Given the description of an element on the screen output the (x, y) to click on. 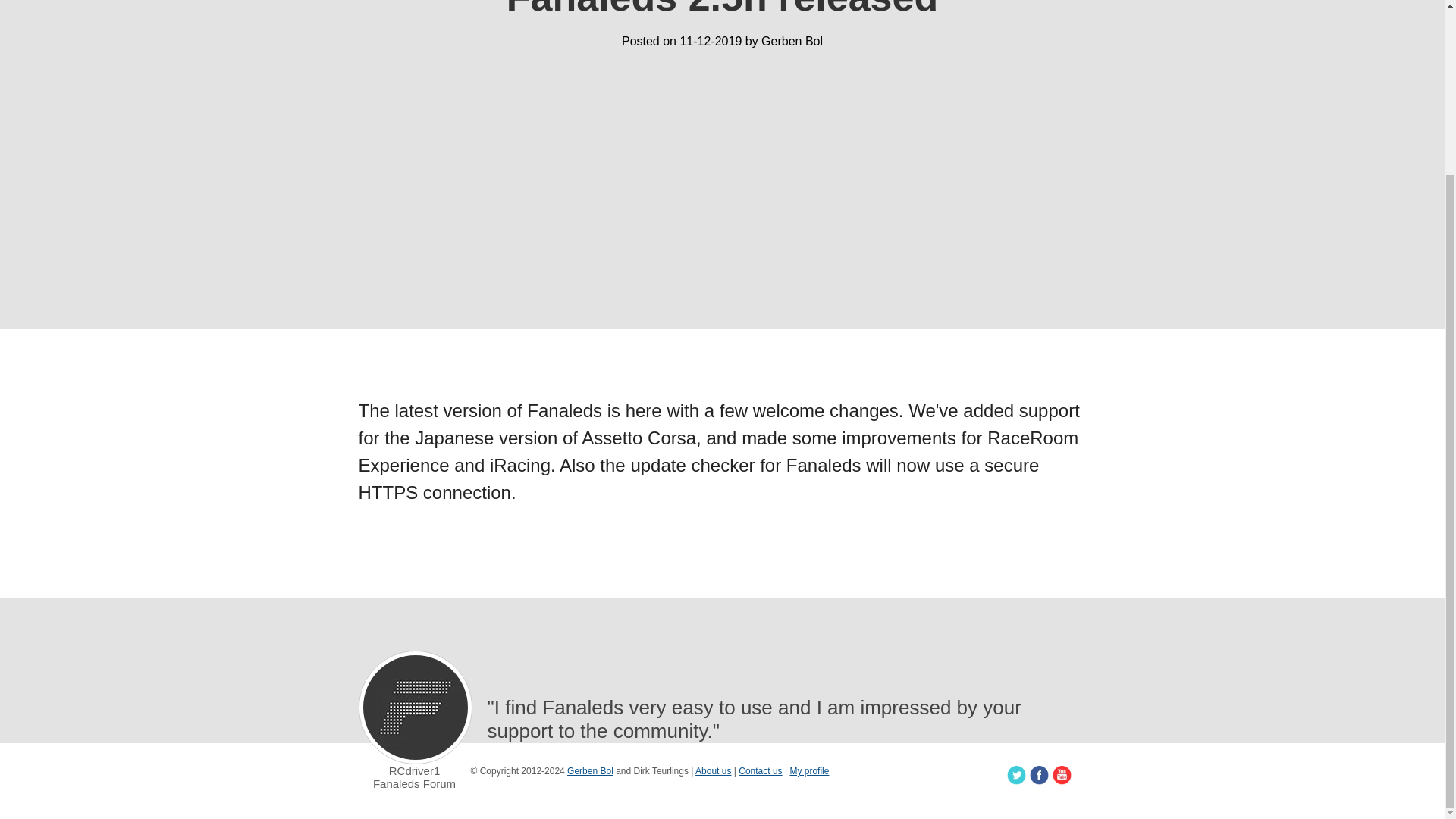
Facebook page (1039, 774)
Quote (414, 707)
Gerben Bol (589, 770)
YouTube channel (1061, 774)
About us (712, 770)
My profile (808, 770)
Contact us (759, 770)
Twitter page (1016, 774)
Portfolio Gerben Bol (589, 770)
